Given the description of an element on the screen output the (x, y) to click on. 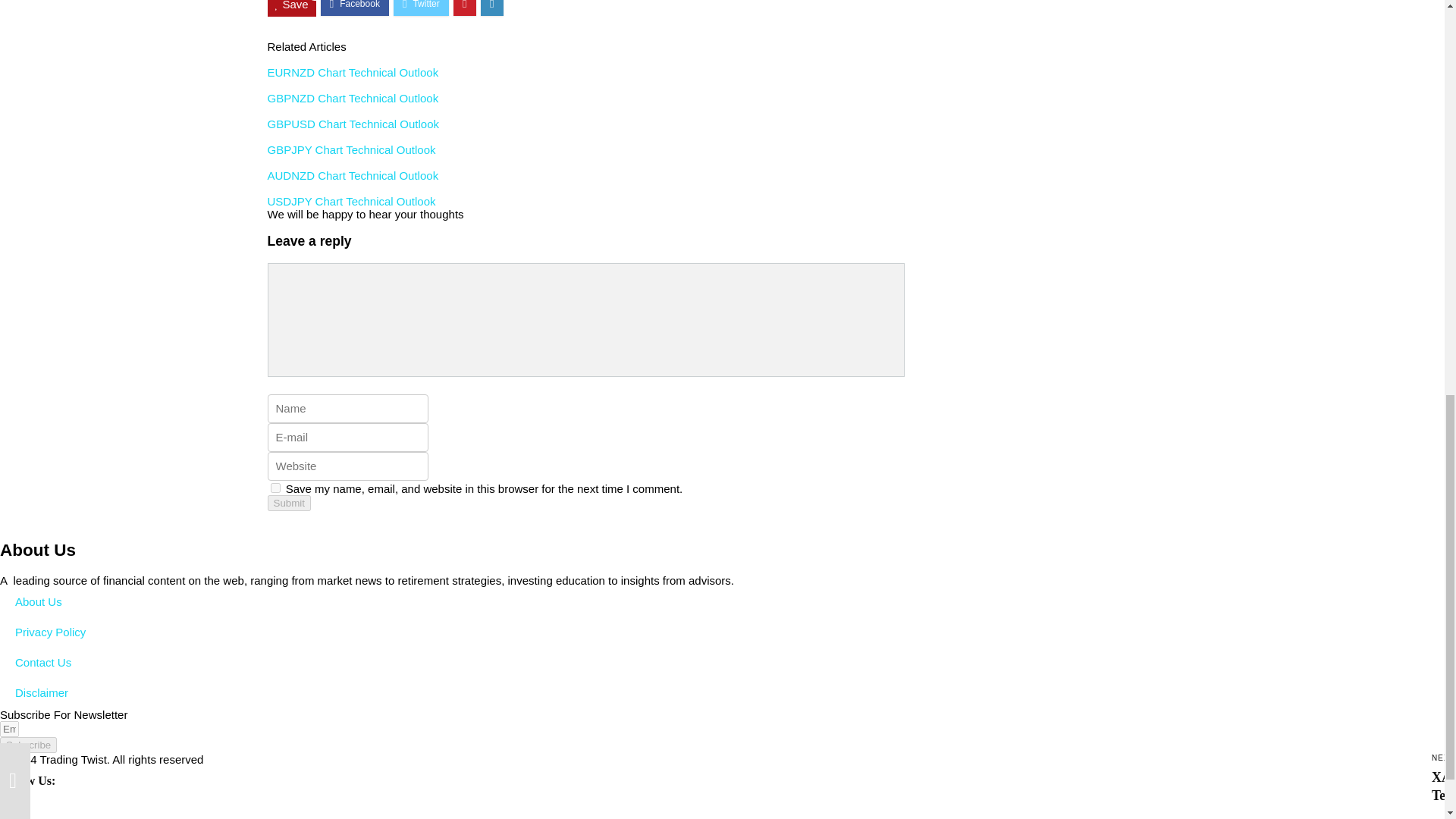
Submit (288, 503)
GBPJPY Chart Technical Outlook (350, 149)
Submit (288, 503)
GBPUSD Chart Technical Outlook (352, 123)
EURNZD Chart Technical Outlook (352, 72)
EURNZD Chart Technical Outlook (352, 72)
GBPUSD Chart Technical Outlook (352, 123)
GBPJPY Chart Technical Outlook (350, 149)
AUDNZD Chart Technical Outlook (352, 174)
GBPNZD Chart Technical Outlook (352, 97)
